Given the description of an element on the screen output the (x, y) to click on. 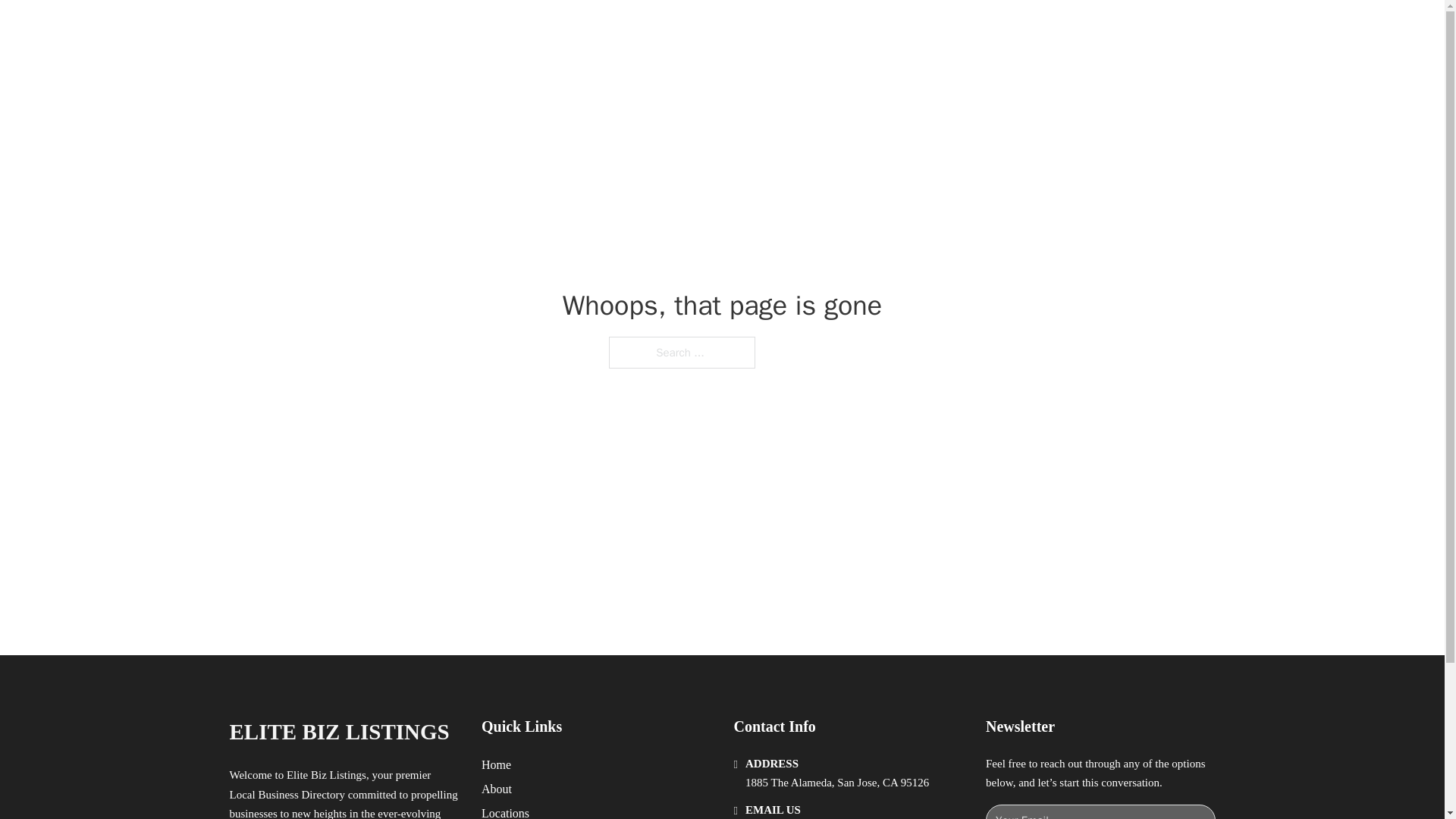
About (496, 788)
ELITE BIZ LISTINGS (338, 732)
Locations (505, 811)
Home (496, 764)
Elite Biz Listings (392, 28)
